Given the description of an element on the screen output the (x, y) to click on. 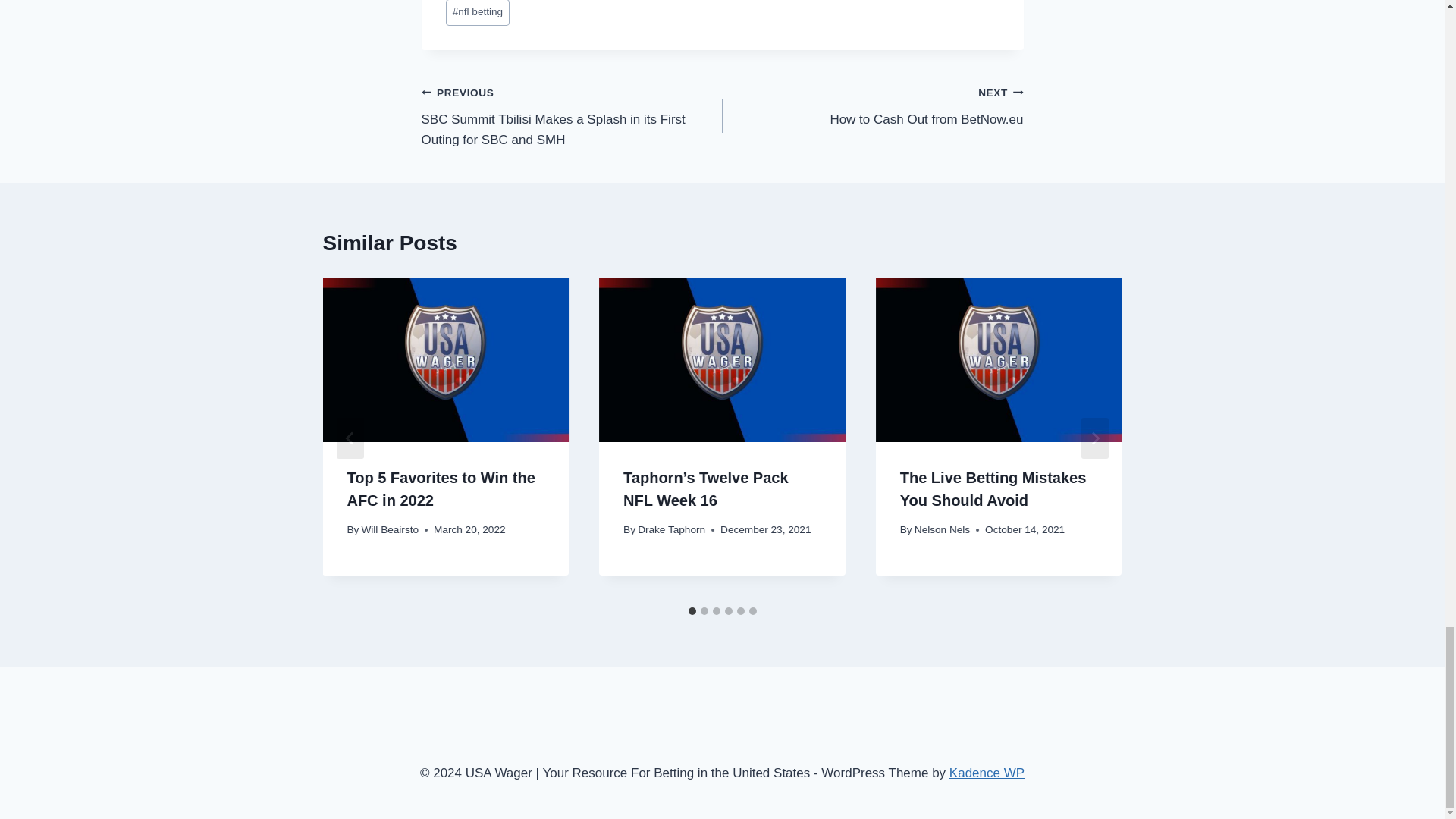
nfl betting (478, 12)
The Live Betting Mistakes You Should Avoid 5 (999, 359)
Top 5 Favorites to Win the AFC in 2022 3 (872, 105)
Taphorn's Twelve Pack NFL Week 16 4 (445, 359)
